Given the description of an element on the screen output the (x, y) to click on. 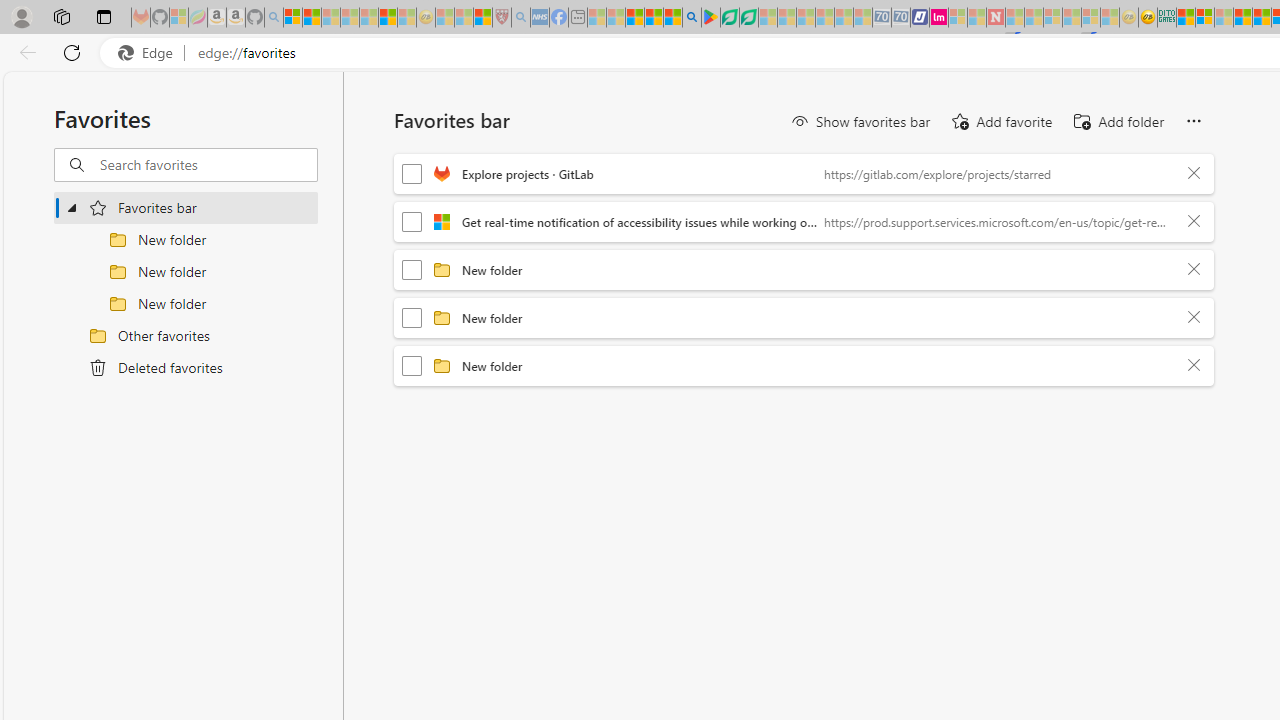
Kinda Frugal - MSN (1262, 17)
14 Common Myths Debunked By Scientific Facts - Sleeping (1034, 17)
Trusted Community Engagement and Contributions | Guidelines (1014, 17)
Add favorite (1000, 121)
MSNBC - MSN - Sleeping (596, 17)
New folder (817, 365)
